Given the description of an element on the screen output the (x, y) to click on. 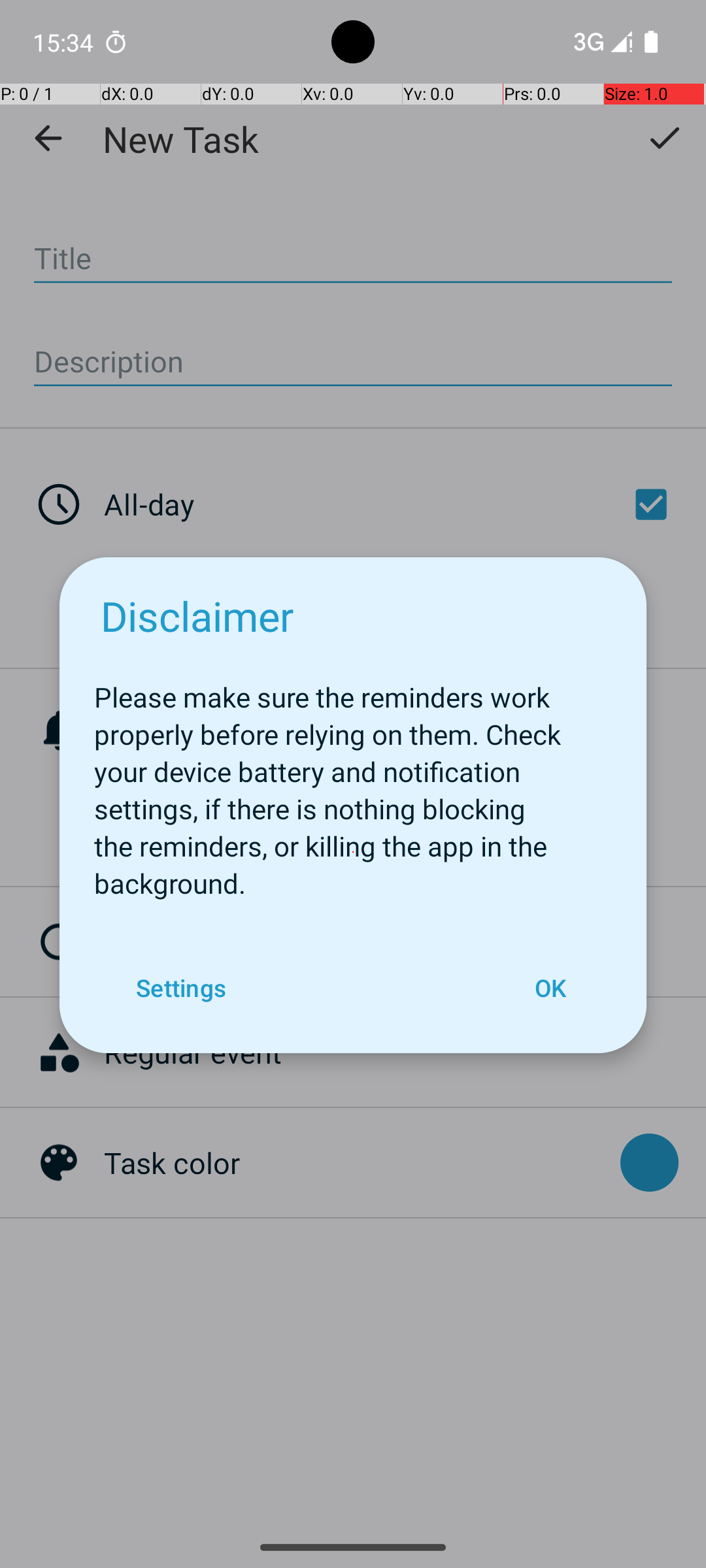
Disclaimer Element type: android.widget.TextView (196, 615)
Please make sure the reminders work properly before relying on them. Check your device battery and notification settings, if there is nothing blocking the reminders, or killing the app in the background. Element type: android.widget.TextView (352, 782)
